Given the description of an element on the screen output the (x, y) to click on. 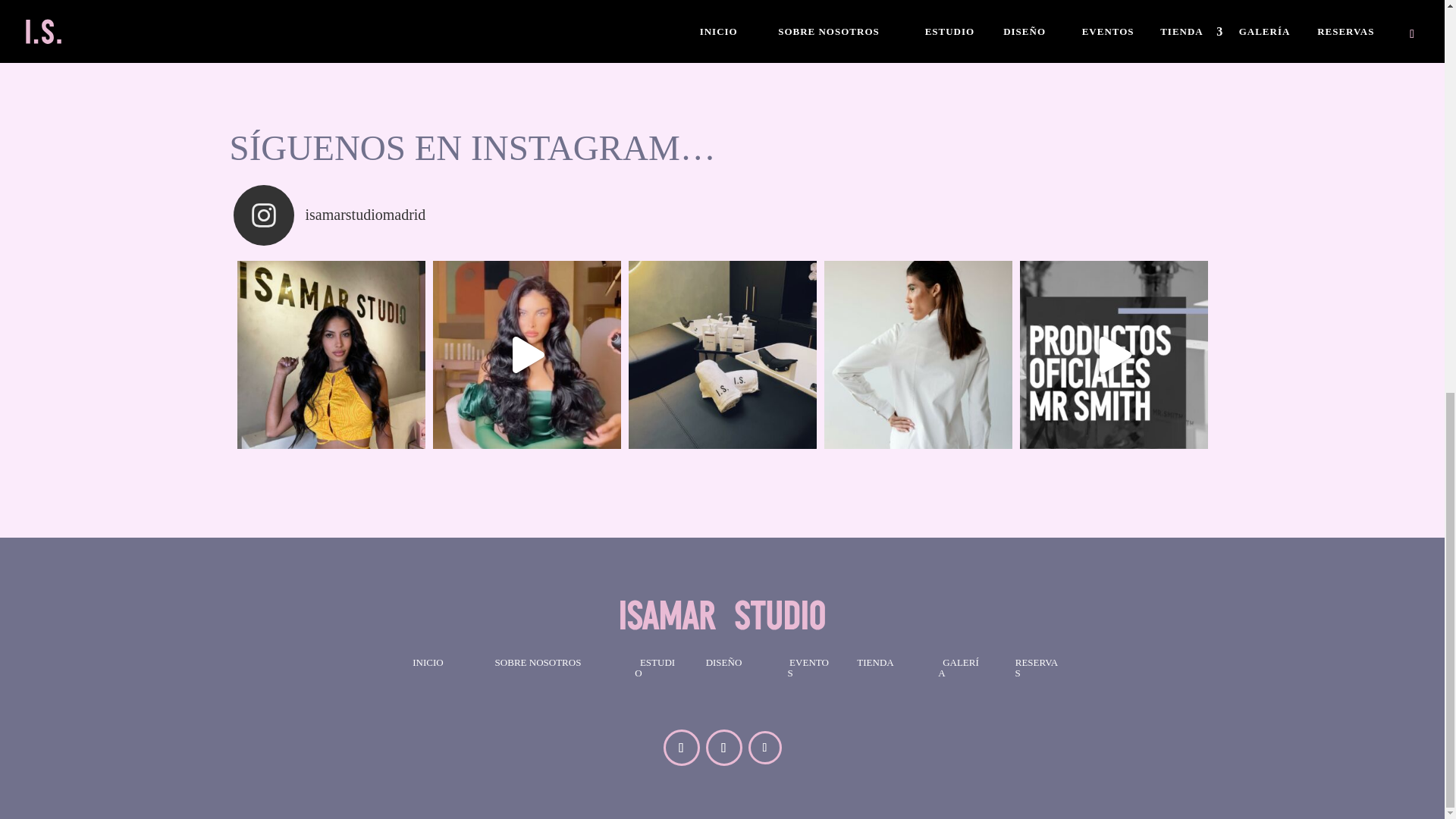
Follow on TikTok (764, 747)
Follow on Facebook (680, 747)
Follow on Instagram (722, 747)
Isamar Studio (722, 614)
